Given the description of an element on the screen output the (x, y) to click on. 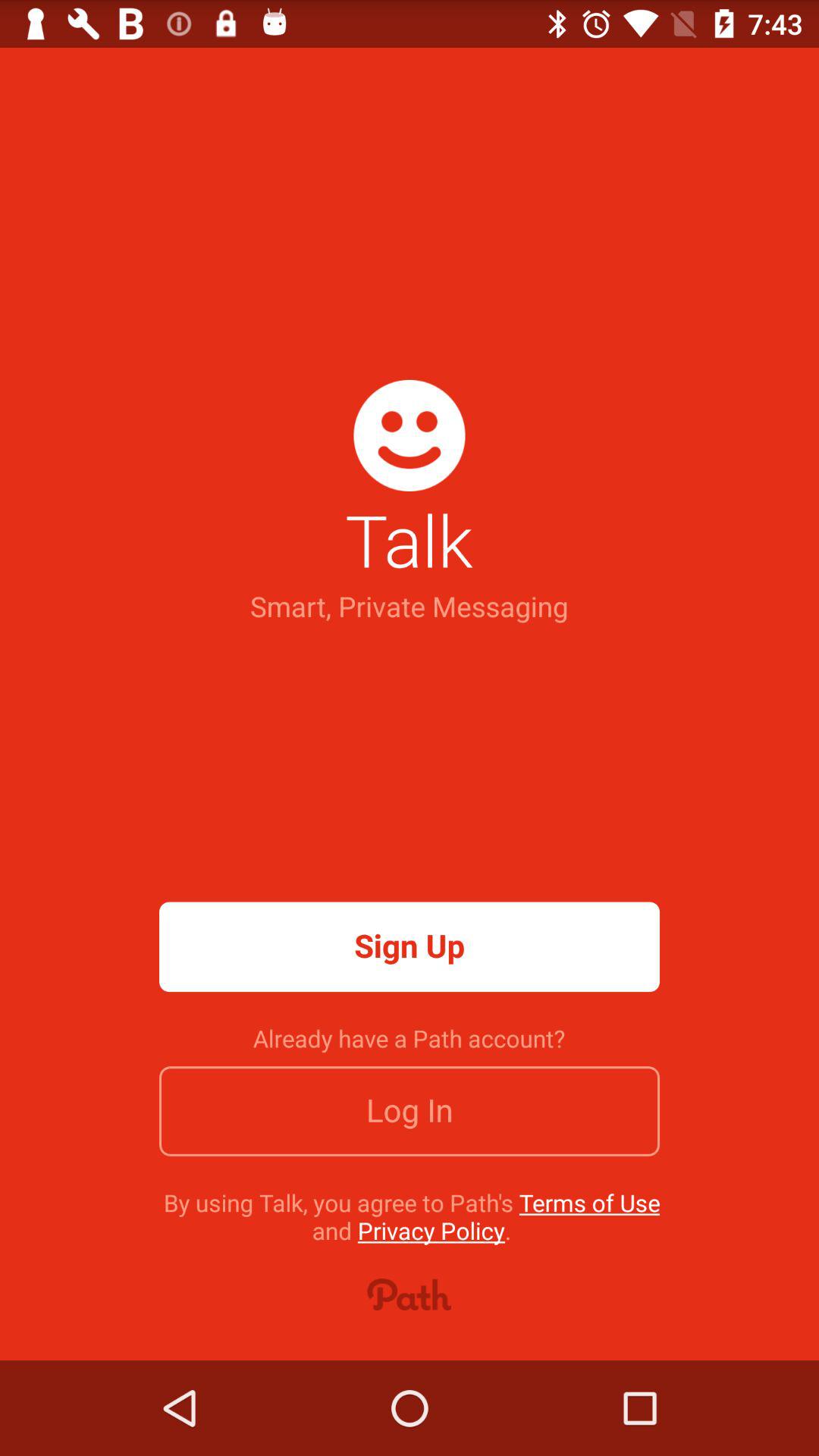
turn off the log in (409, 1111)
